Given the description of an element on the screen output the (x, y) to click on. 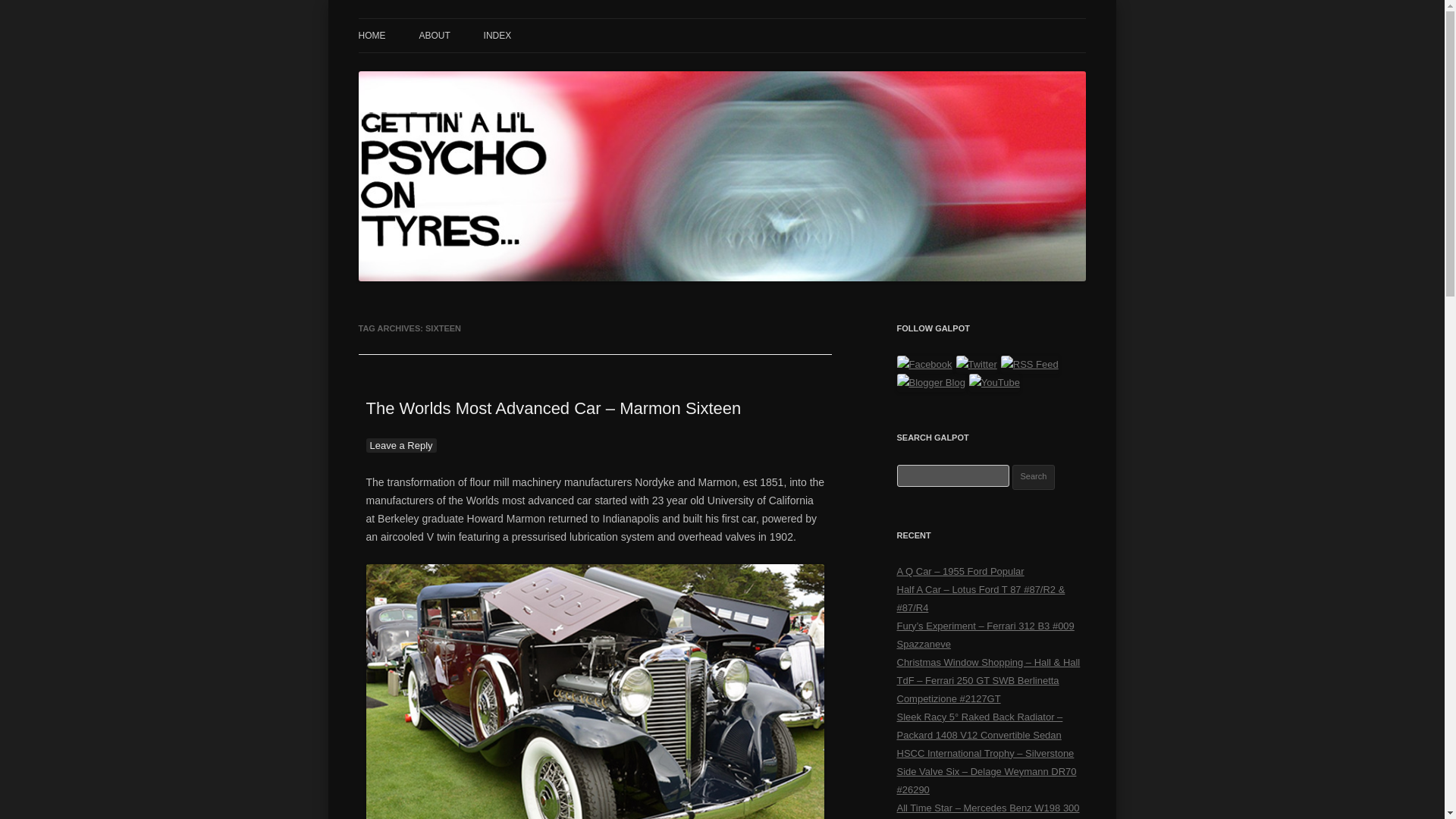
Leave a Reply (400, 445)
Follow arttidesco on Twitter (976, 364)
Blogger Blog (929, 382)
Gettin' A Li'l Psycho On Tyres (497, 36)
01 Copyright 2012 Geoffrey Horton -27sc (594, 691)
psychoontyres - YouTube (994, 382)
Search (1033, 477)
ABOUT (434, 35)
